Given the description of an element on the screen output the (x, y) to click on. 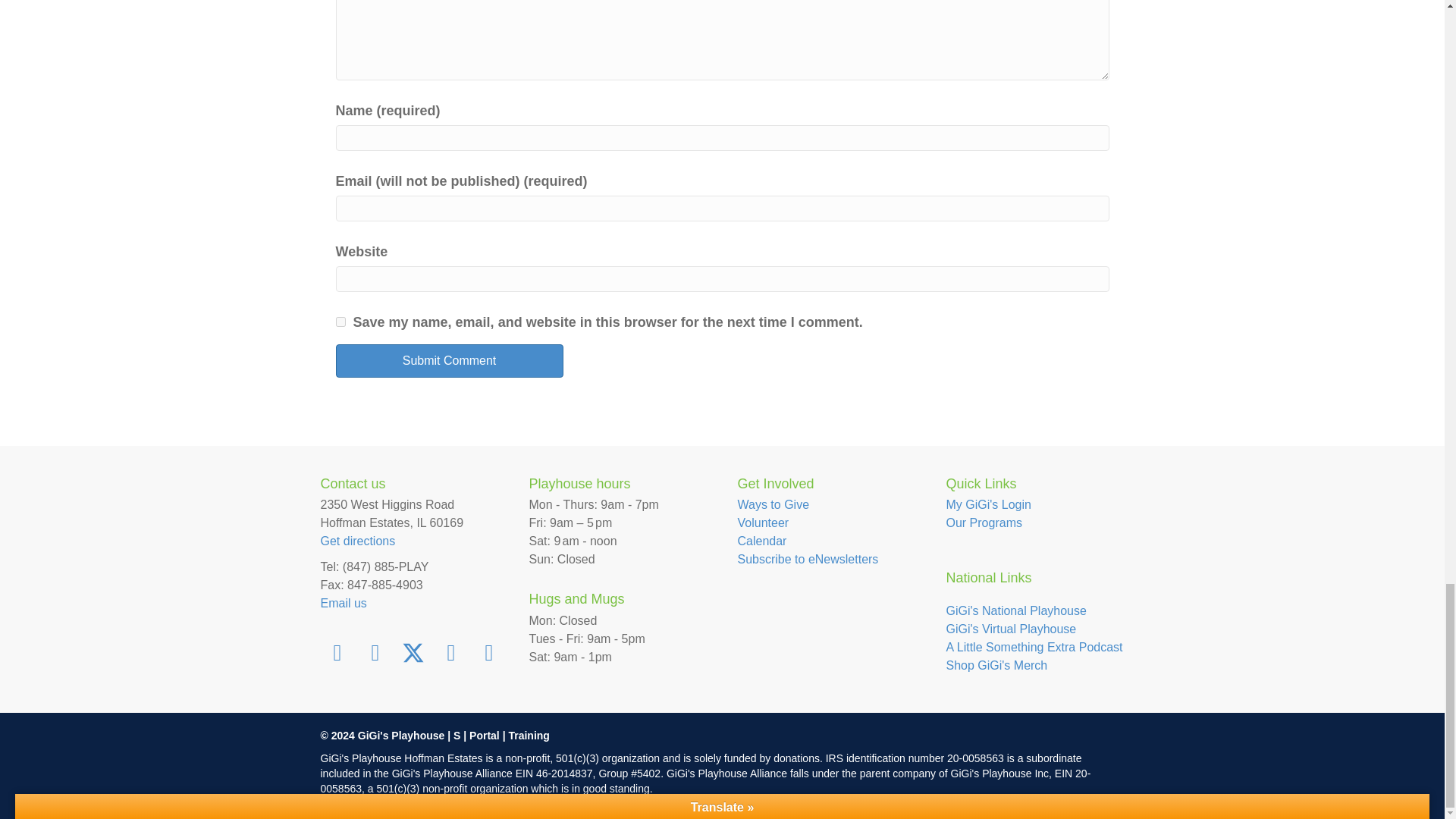
Instagram (374, 652)
LinkedIn (450, 652)
YouTube (488, 652)
yes (339, 321)
Submit Comment (448, 360)
Facebook (336, 652)
